Given the description of an element on the screen output the (x, y) to click on. 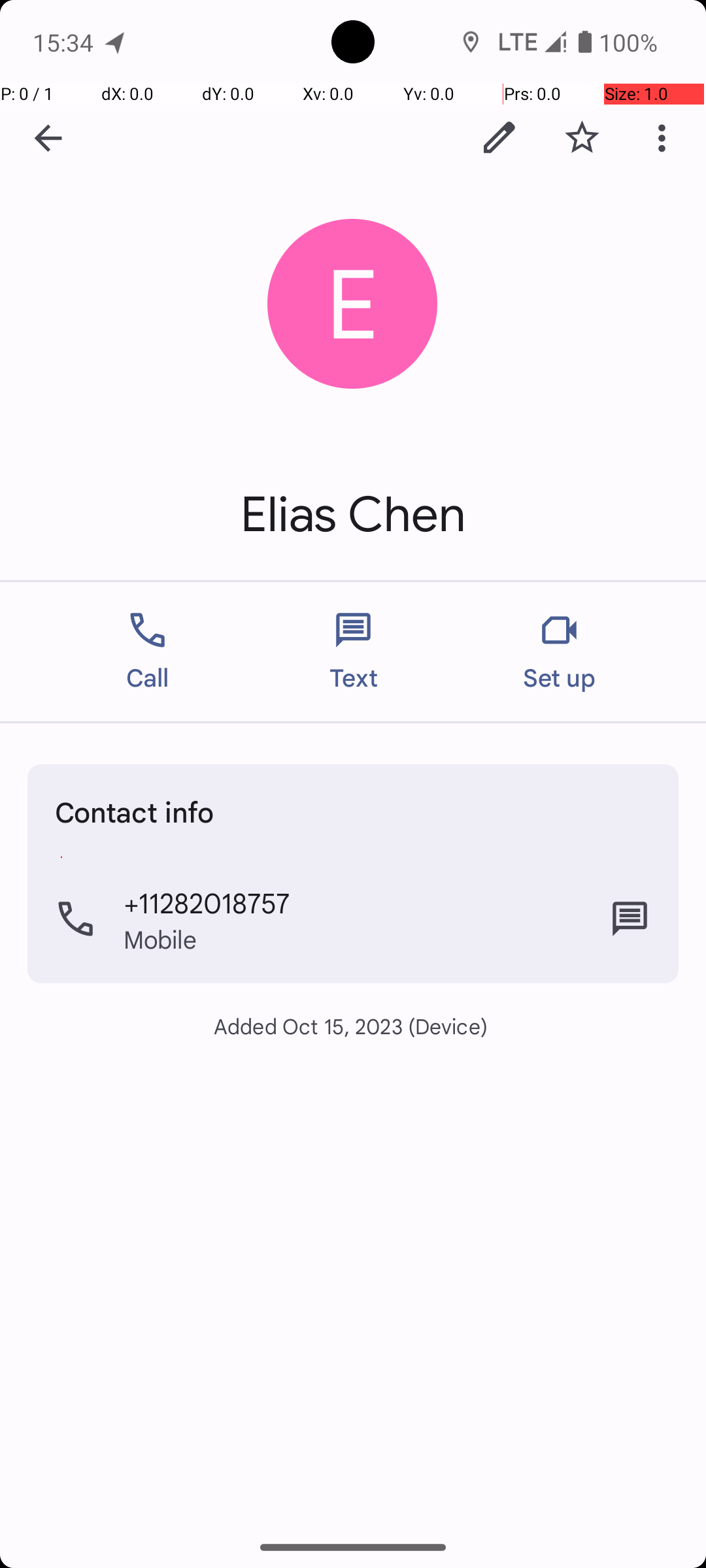
Contact photo Element type: android.widget.ImageView (352, 303)
Set up Element type: android.widget.TextView (559, 651)
Elias Chen Element type: android.widget.TextView (352, 514)
Contact info Element type: android.widget.TextView (134, 811)
Call Mobile +11282018757 Element type: android.widget.RelativeLayout (352, 919)
Added Oct 15, 2023 (Device)  Element type: android.widget.TextView (352, 1025)
+11282018757 Element type: android.widget.TextView (206, 901)
Text Mobile +11282018757 Element type: android.widget.Button (629, 919)
